Given the description of an element on the screen output the (x, y) to click on. 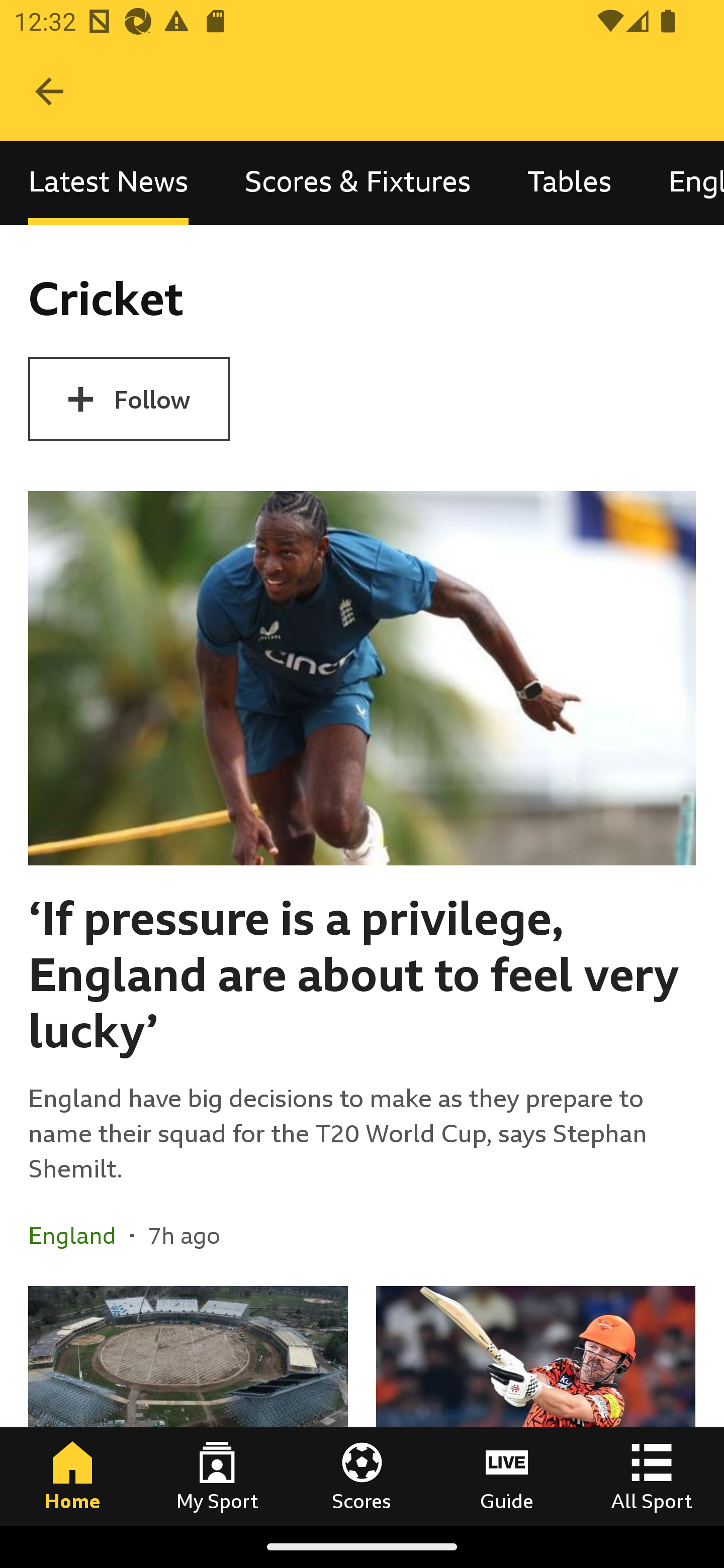
Navigate up (49, 91)
Latest News, selected Latest News (108, 183)
Scores & Fixtures (357, 183)
Tables (569, 183)
Follow Cricket Follow (129, 398)
England In the section England (79, 1234)
The batting blitz turning cricket into baseball (535, 1405)
My Sport (216, 1475)
Scores (361, 1475)
Guide (506, 1475)
All Sport (651, 1475)
